Given the description of an element on the screen output the (x, y) to click on. 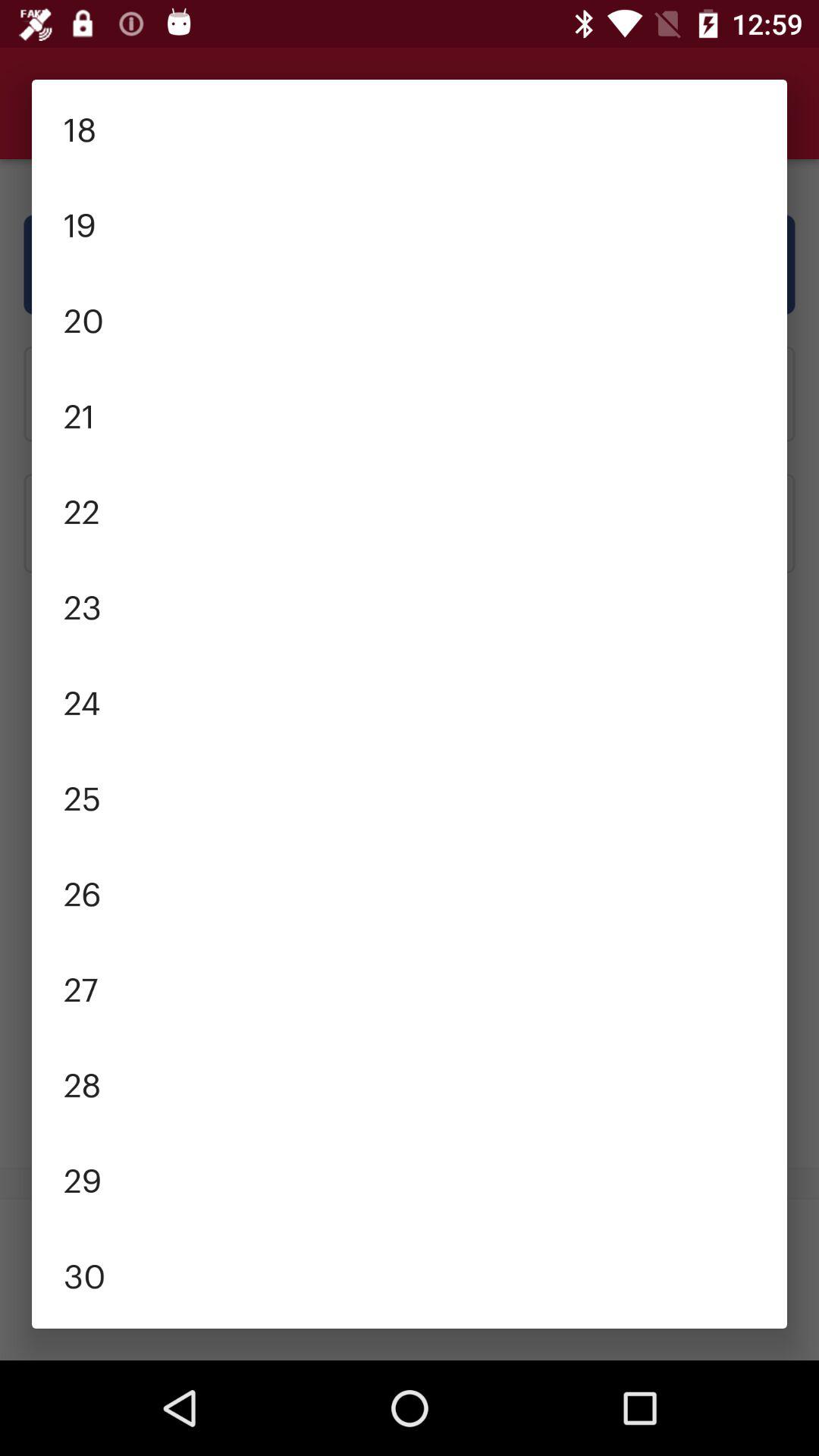
open 25 (409, 796)
